Given the description of an element on the screen output the (x, y) to click on. 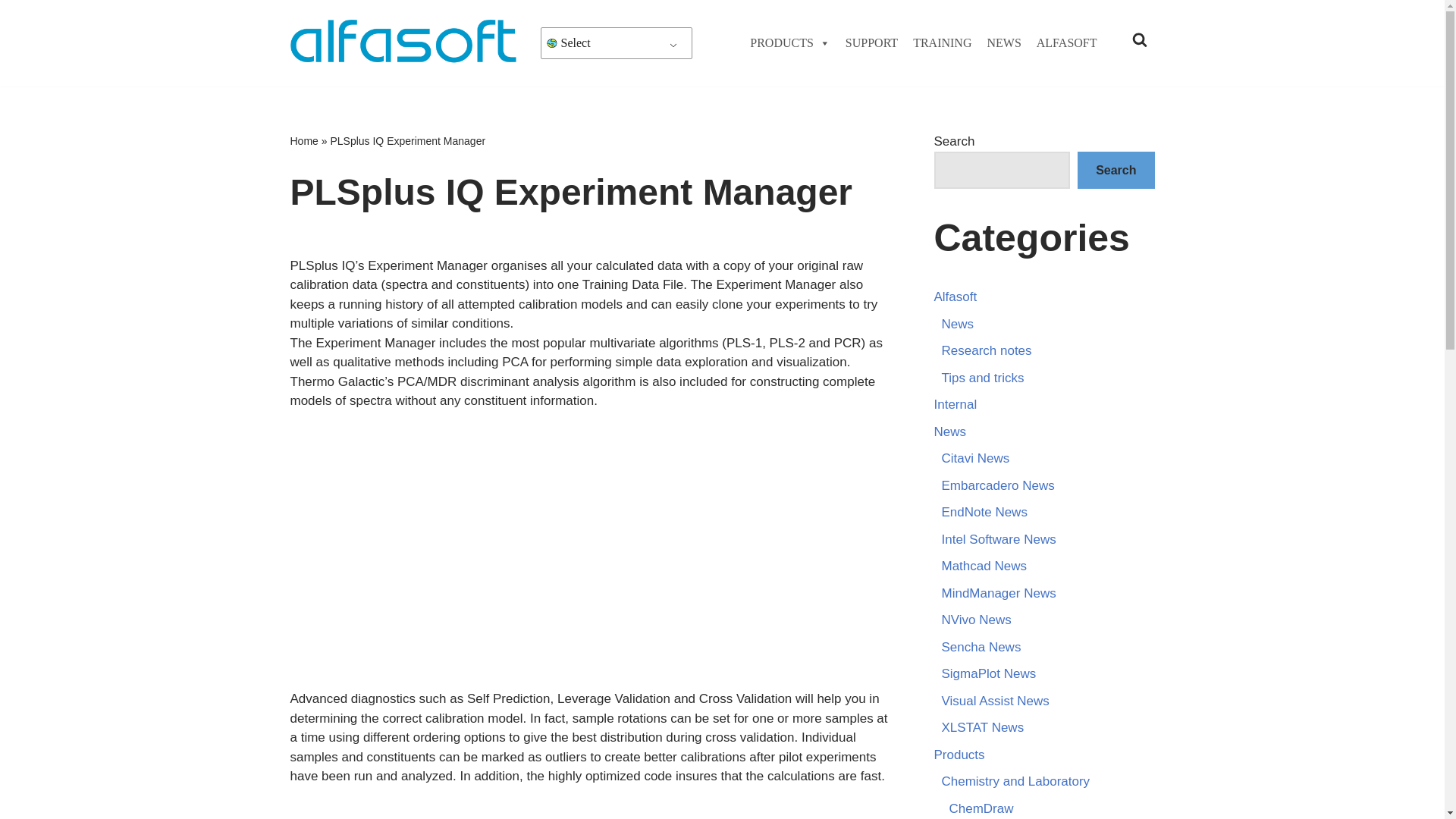
PRODUCTS (790, 43)
Select (616, 42)
Skip to content (11, 31)
Select (550, 42)
Select (616, 42)
